Given the description of an element on the screen output the (x, y) to click on. 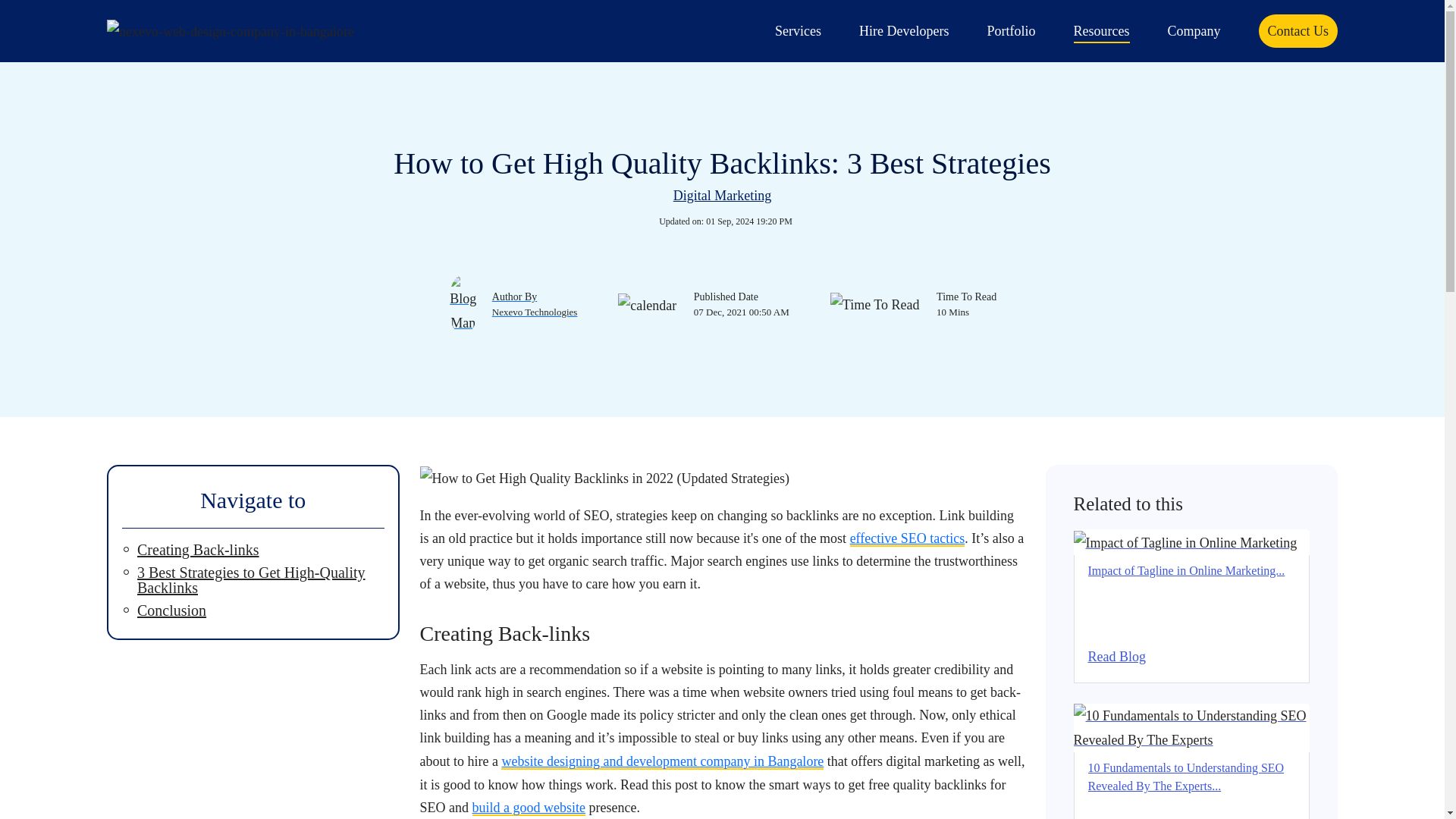
Author (528, 304)
Pulished On (734, 304)
Contact Us (1298, 30)
Time To Read (959, 304)
Portfolio (1011, 30)
Services (797, 30)
Hire Developers (904, 30)
